Given the description of an element on the screen output the (x, y) to click on. 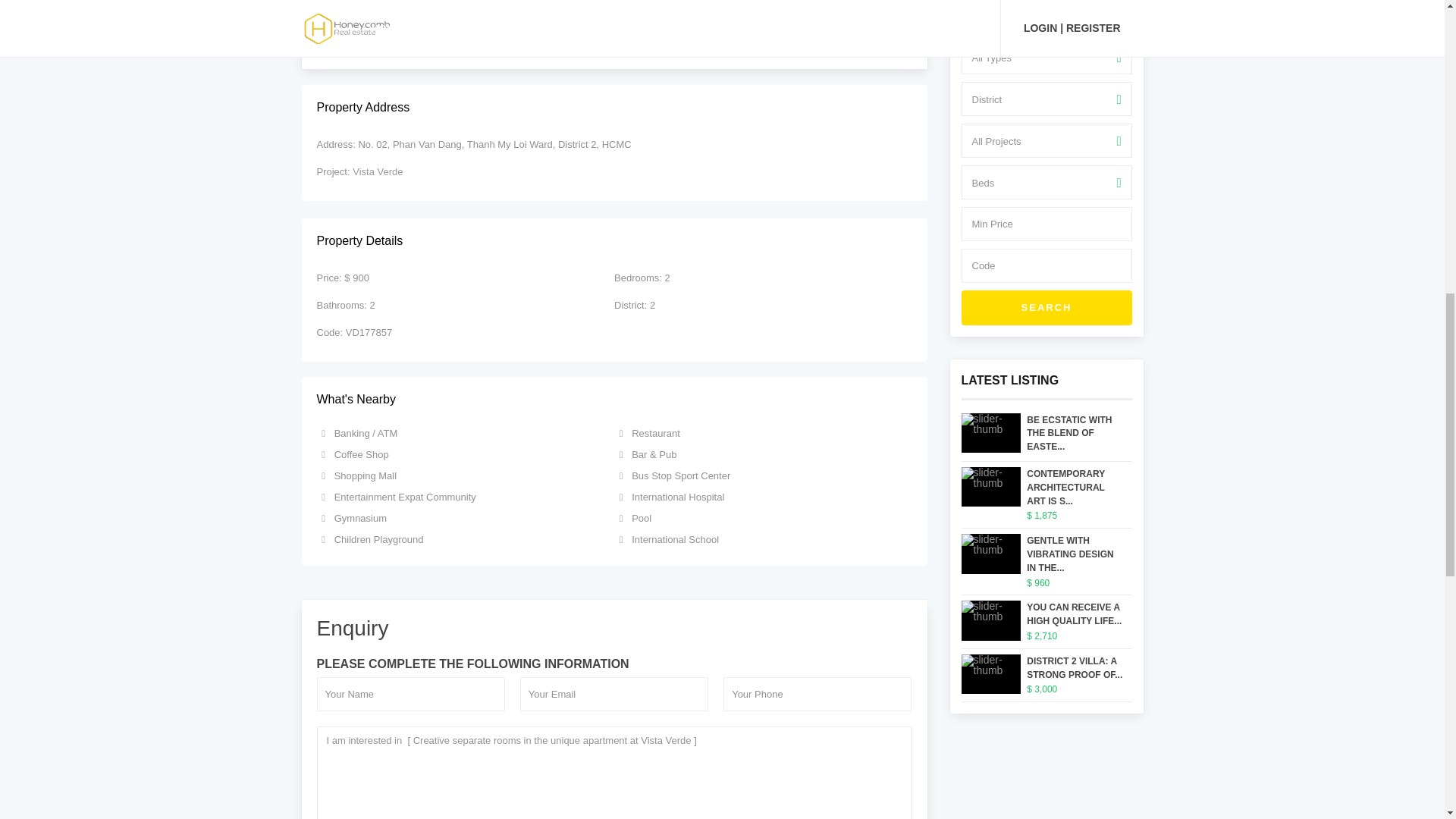
Property Address (614, 107)
Vista Verde (377, 171)
Property Details (614, 241)
SEARCH (1046, 307)
What'S Nearby (614, 399)
